Given the description of an element on the screen output the (x, y) to click on. 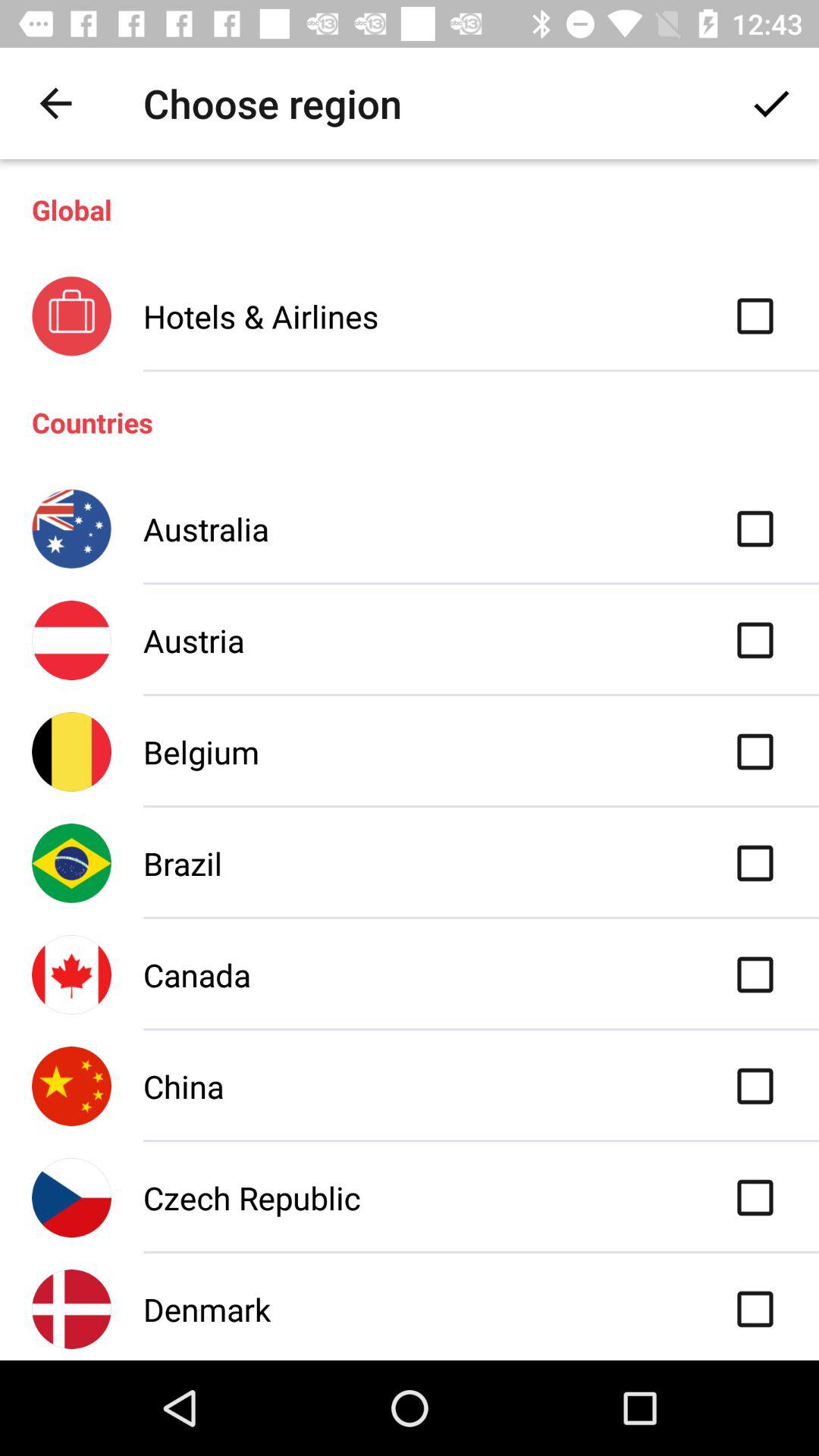
select the item next to choose region (55, 103)
